Given the description of an element on the screen output the (x, y) to click on. 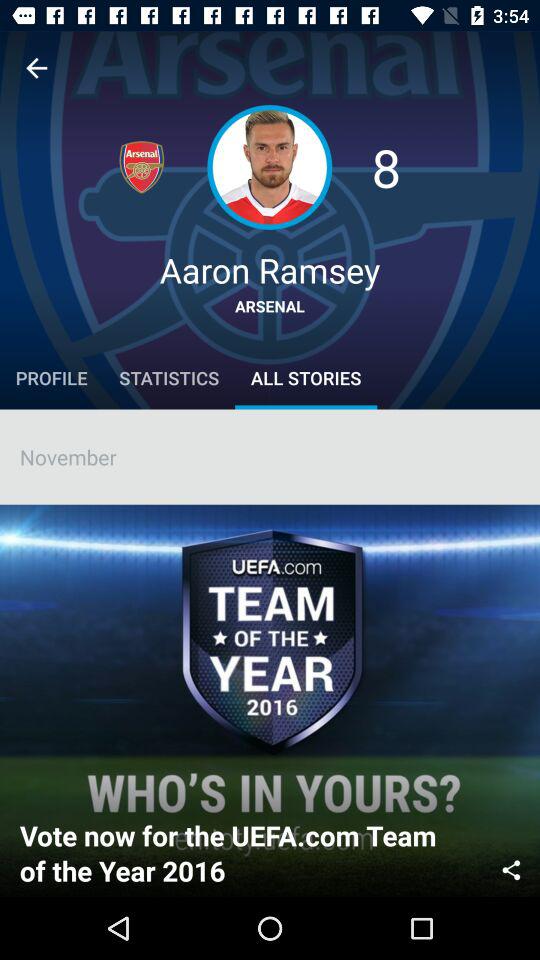
go back (36, 68)
